Given the description of an element on the screen output the (x, y) to click on. 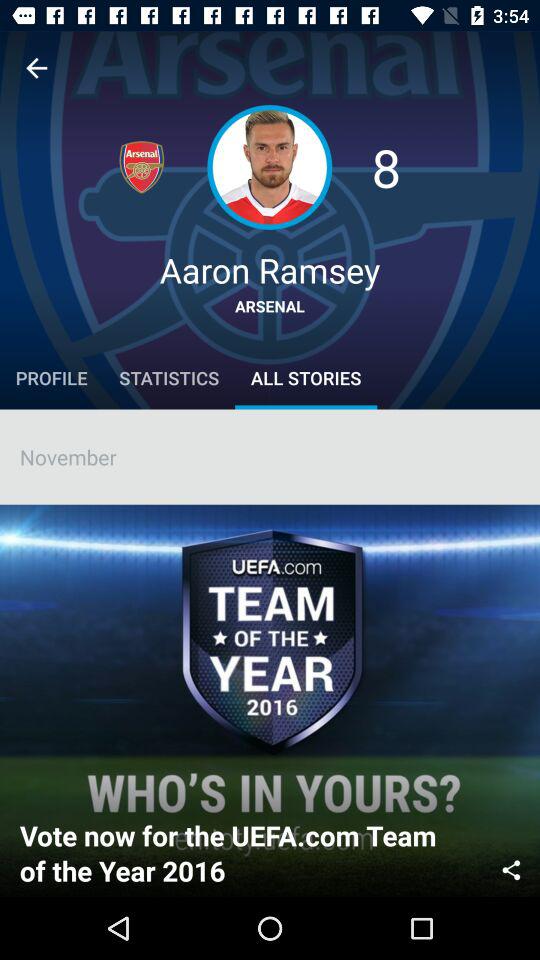
go back (36, 68)
